Given the description of an element on the screen output the (x, y) to click on. 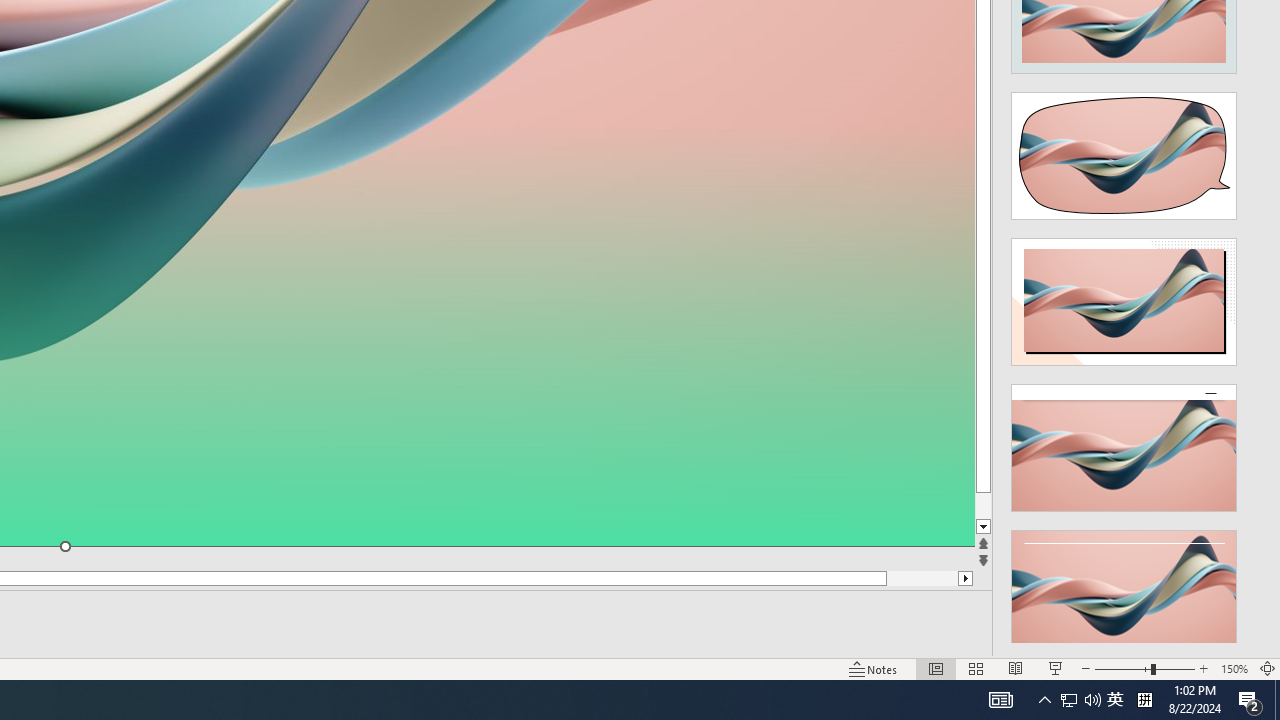
Zoom 150% (1234, 668)
